Given the description of an element on the screen output the (x, y) to click on. 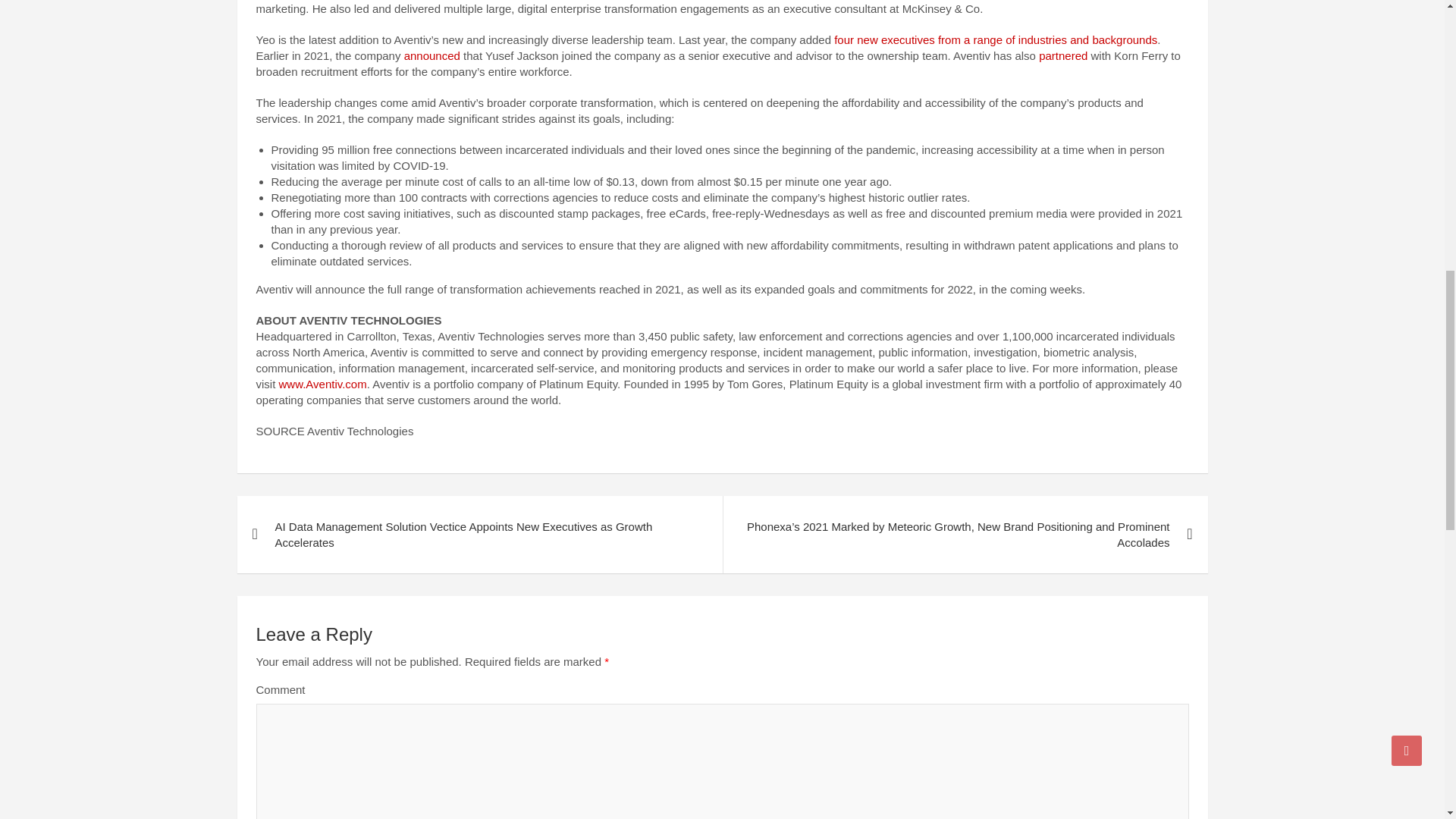
partnered (1063, 55)
www.Aventiv.com (322, 383)
announced (432, 55)
